Given the description of an element on the screen output the (x, y) to click on. 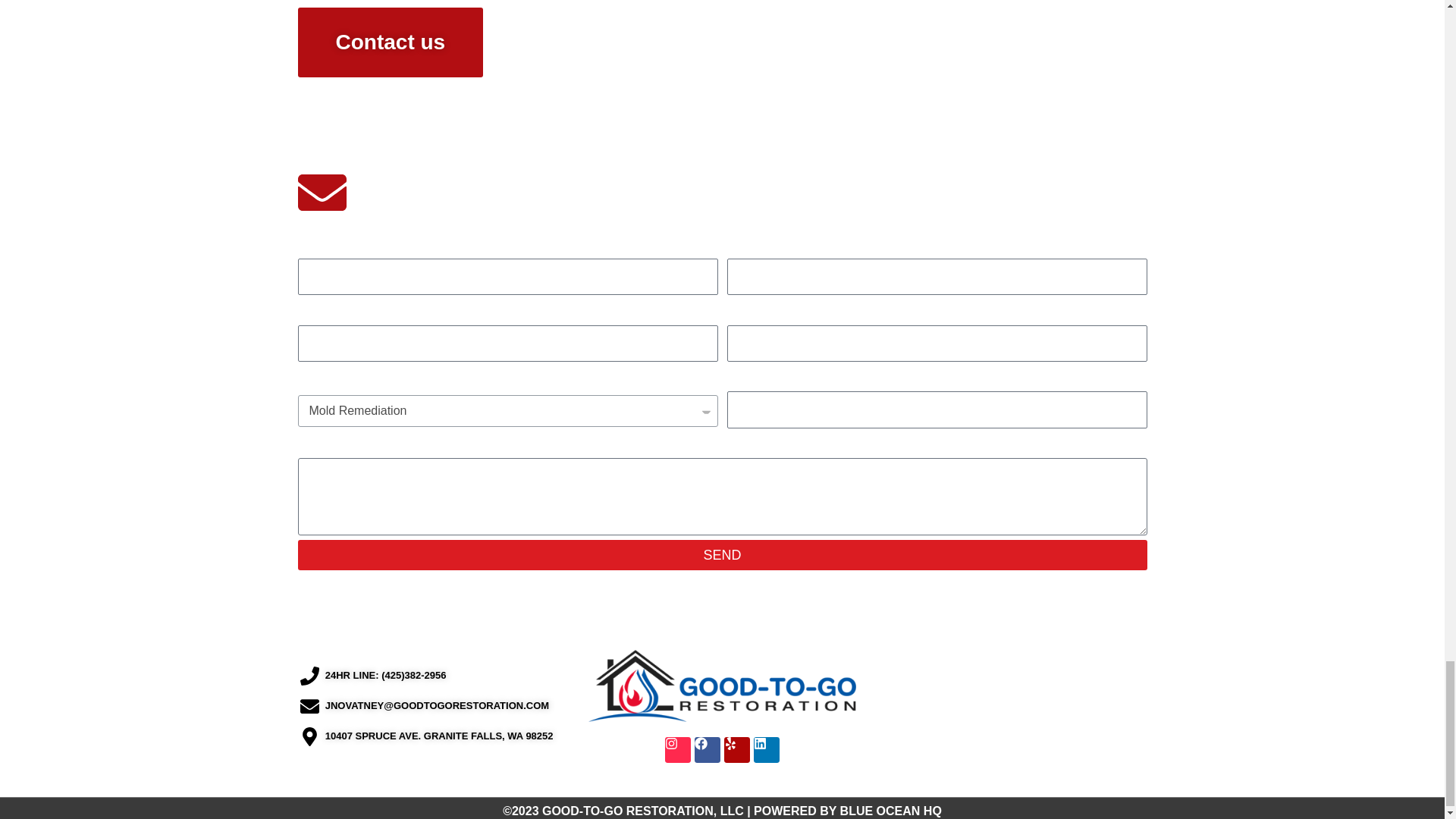
logo - Good To Go Restoration (722, 686)
SEND (722, 554)
Contact us (390, 41)
